Given the description of an element on the screen output the (x, y) to click on. 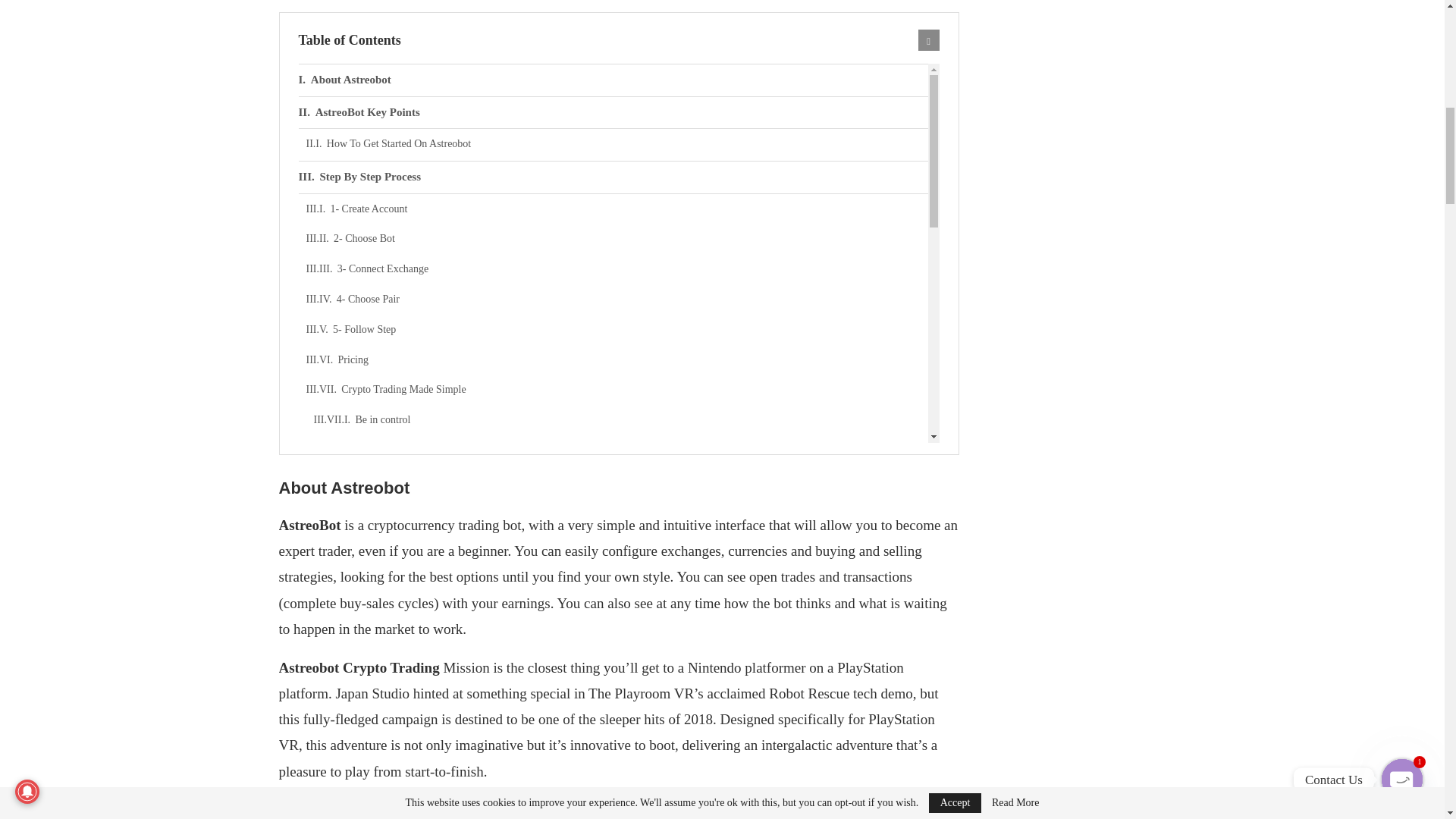
AstreoBot Key Points (613, 112)
2- Choose Bot (616, 238)
1- Create Account (616, 209)
Pricing (616, 359)
Be in control (621, 419)
3- Connect Exchange  (616, 268)
Step By Step Process  (613, 177)
About Astreobot (613, 80)
4- Choose Pair (616, 299)
How To Get Started On Astreobot (616, 143)
5- Follow Step (616, 329)
Crypto Trading Made Simple (616, 389)
